Given the description of an element on the screen output the (x, y) to click on. 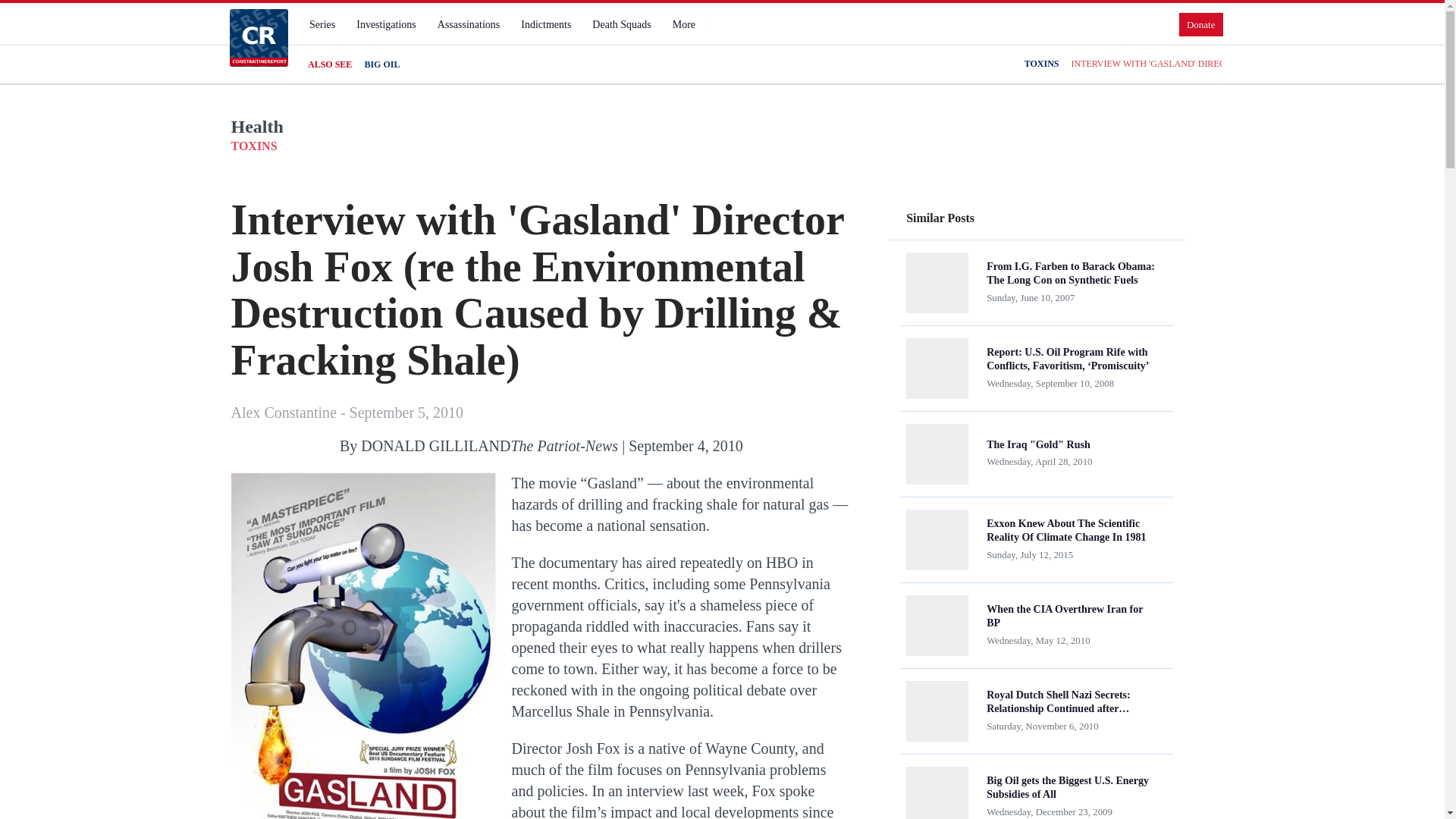
TOXINS (1042, 63)
Constantine Report (257, 37)
More (690, 24)
Death Squads (621, 23)
Assassinations (467, 23)
Investigations (386, 23)
Donate (1201, 24)
BIG OIL (381, 64)
Indictments (545, 23)
Series (321, 23)
